Given the description of an element on the screen output the (x, y) to click on. 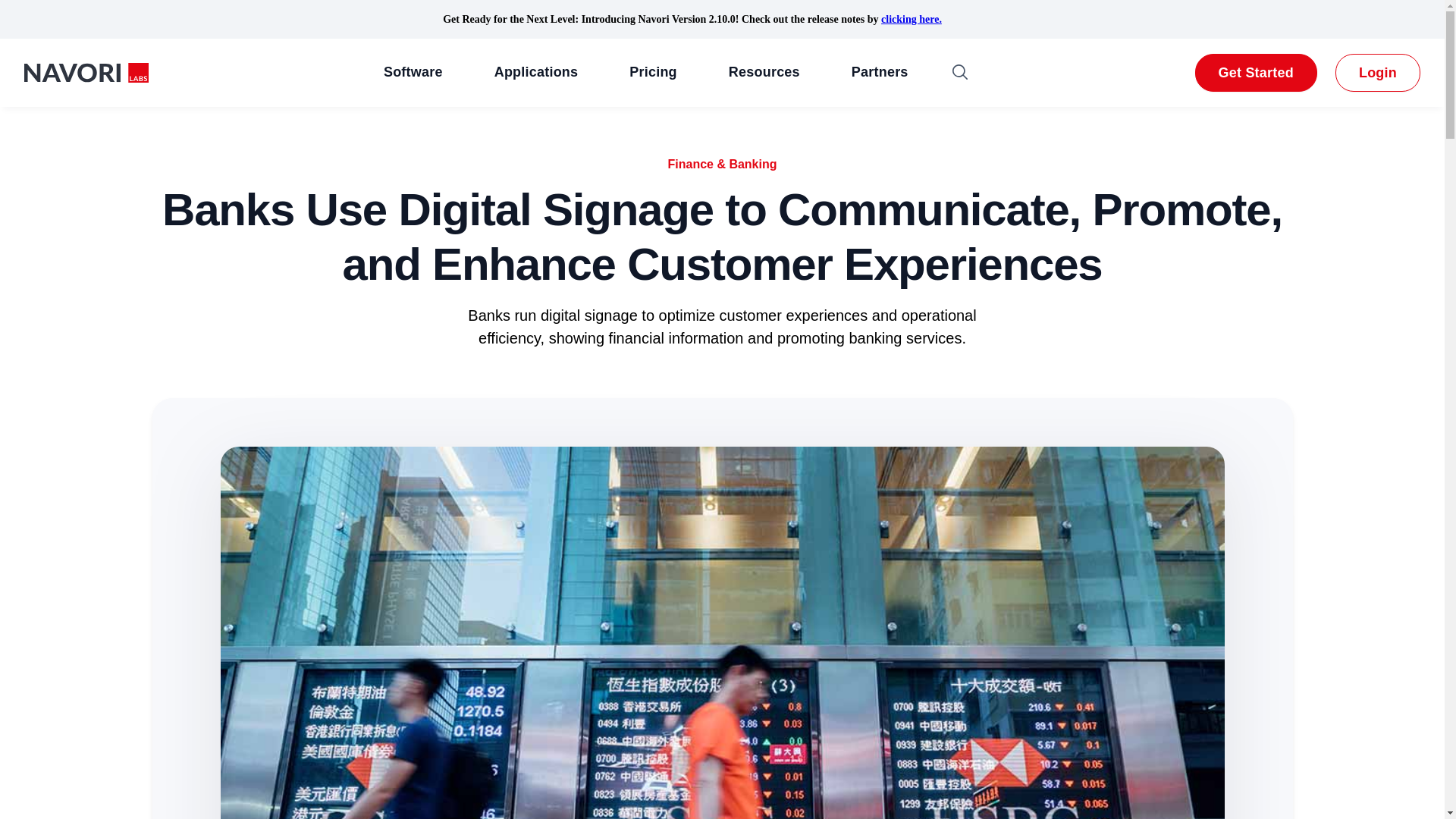
Pricing (652, 72)
Get Started (1255, 72)
Applications (536, 72)
clicking here. (911, 19)
Resources (764, 72)
Software (412, 72)
Login In (1377, 72)
